Given the description of an element on the screen output the (x, y) to click on. 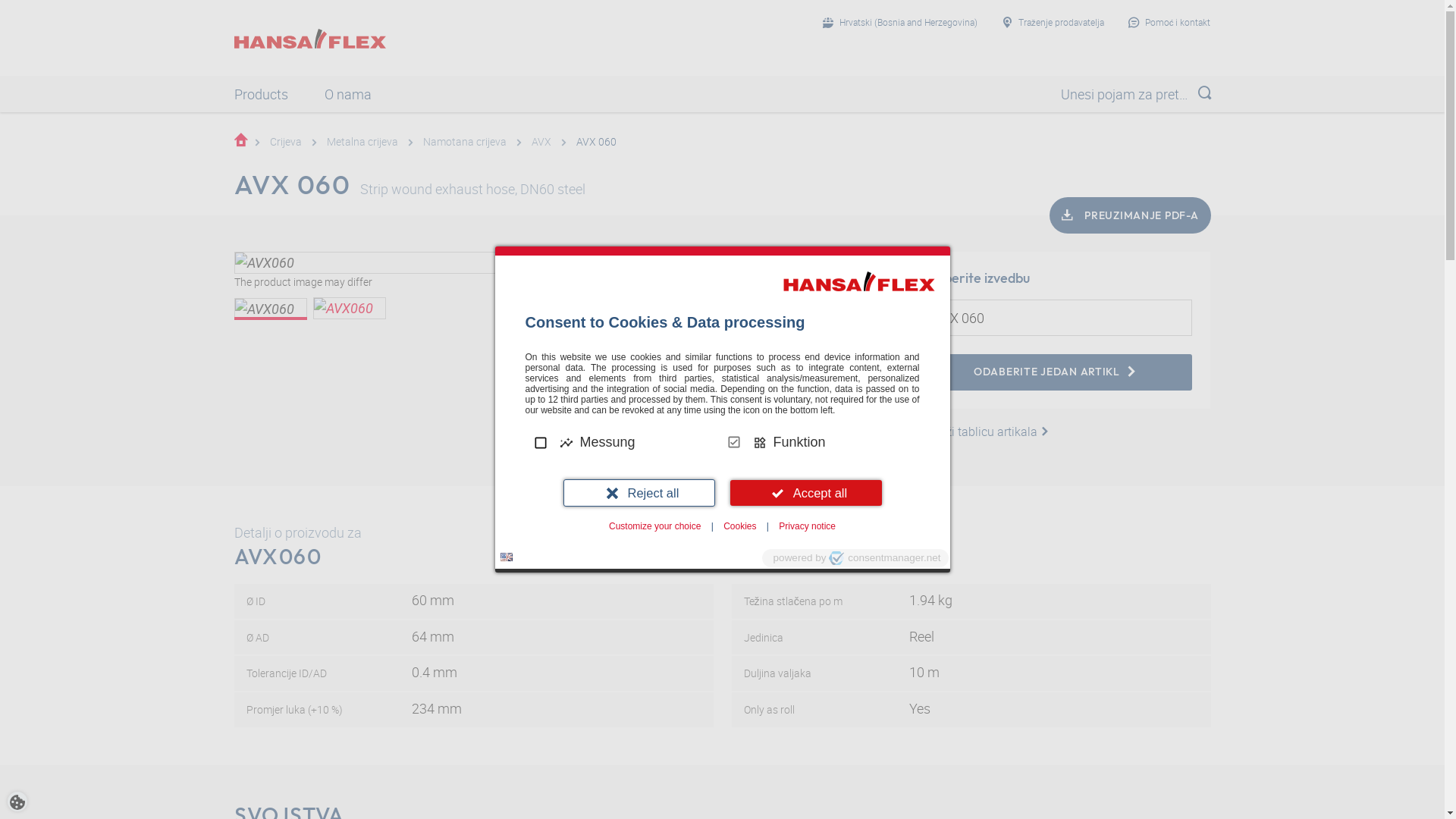
Hansaflex Logo Element type: hover (309, 38)
Crijeva Element type: text (285, 141)
Hrvatski (Bosnia and Herzegovina) Element type: text (899, 22)
Metalna crijeva Element type: text (361, 141)
Preuzimanje PDF-a Element type: text (631, 434)
Namotana crijeva Element type: text (464, 141)
O nama Element type: text (347, 93)
PREUZIMANJE PDF-A Element type: text (1130, 215)
AVX Element type: text (540, 141)
ODABERITE JEDAN ARTIKL Element type: text (1055, 372)
